Given the description of an element on the screen output the (x, y) to click on. 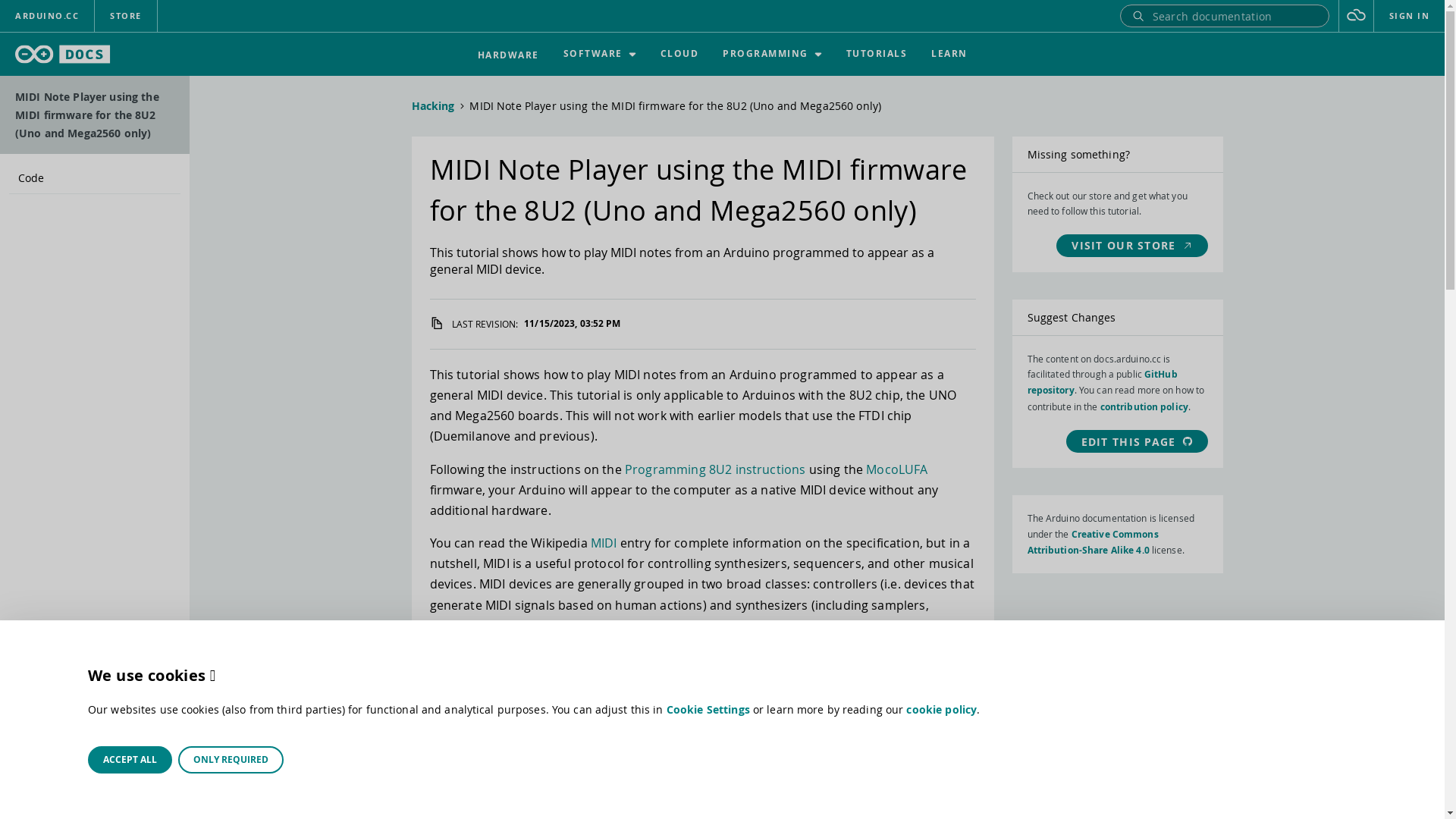
introduction to MIDI Element type: text (669, 657)
SIGN IN Element type: text (1409, 15)
ARDUINO.CC Element type: text (47, 15)
LEARN Element type: text (949, 53)
Programming 8U2 instructions Element type: text (714, 469)
SOFTWARE Element type: text (598, 53)
Hacking Element type: text (432, 106)
Cookie Settings Element type: text (707, 709)
VISIT OUR STORE Element type: text (1131, 245)
Code Element type: text (94, 178)
MocoLUFA Element type: text (896, 469)
EDIT THIS PAGE Element type: text (1137, 440)
ACCEPT ALL Element type: text (129, 759)
PROGRAMMING Element type: text (772, 53)
STORE Element type: text (125, 15)
TUTORIALS Element type: text (876, 53)
example Element type: text (797, 657)
cookie policy Element type: text (941, 709)
Creative Commons Attribution-Share Alike 4.0 Element type: text (1091, 541)
contribution policy Element type: text (1144, 406)
MIDI Element type: text (603, 542)
GitHub repository Element type: text (1101, 381)
HARDWARE Element type: text (508, 53)
ONLY REQUIRED Element type: text (230, 759)
CLOUD Element type: text (678, 53)
